Given the description of an element on the screen output the (x, y) to click on. 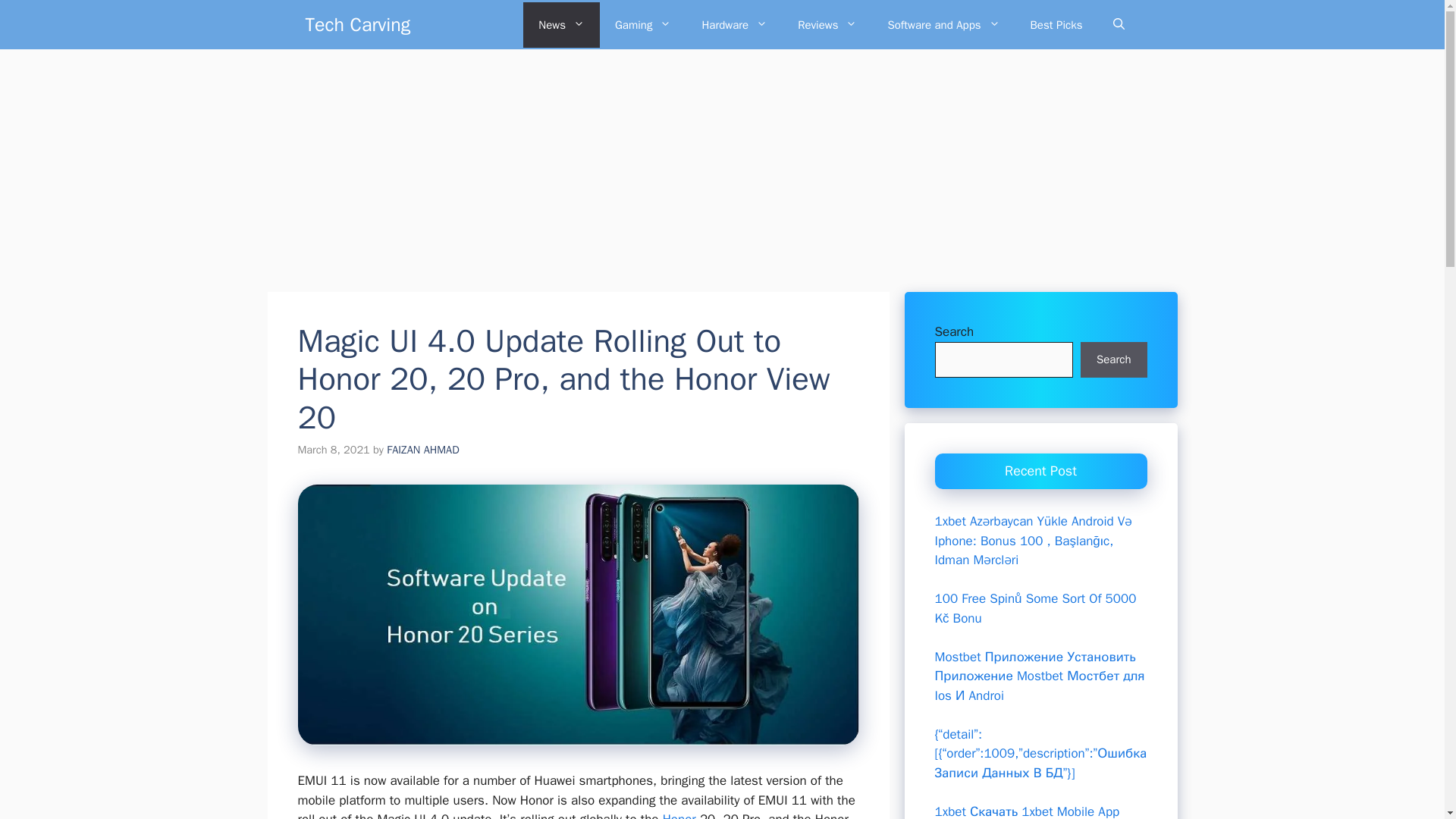
News (560, 23)
Software and Apps (943, 23)
Honor (678, 815)
View all posts by FAIZAN AHMAD (422, 449)
Reviews (827, 23)
Best Picks (1055, 23)
Search (1113, 359)
FAIZAN AHMAD (422, 449)
Tech Carving (357, 24)
Hardware (734, 23)
Gaming (642, 23)
